Given the description of an element on the screen output the (x, y) to click on. 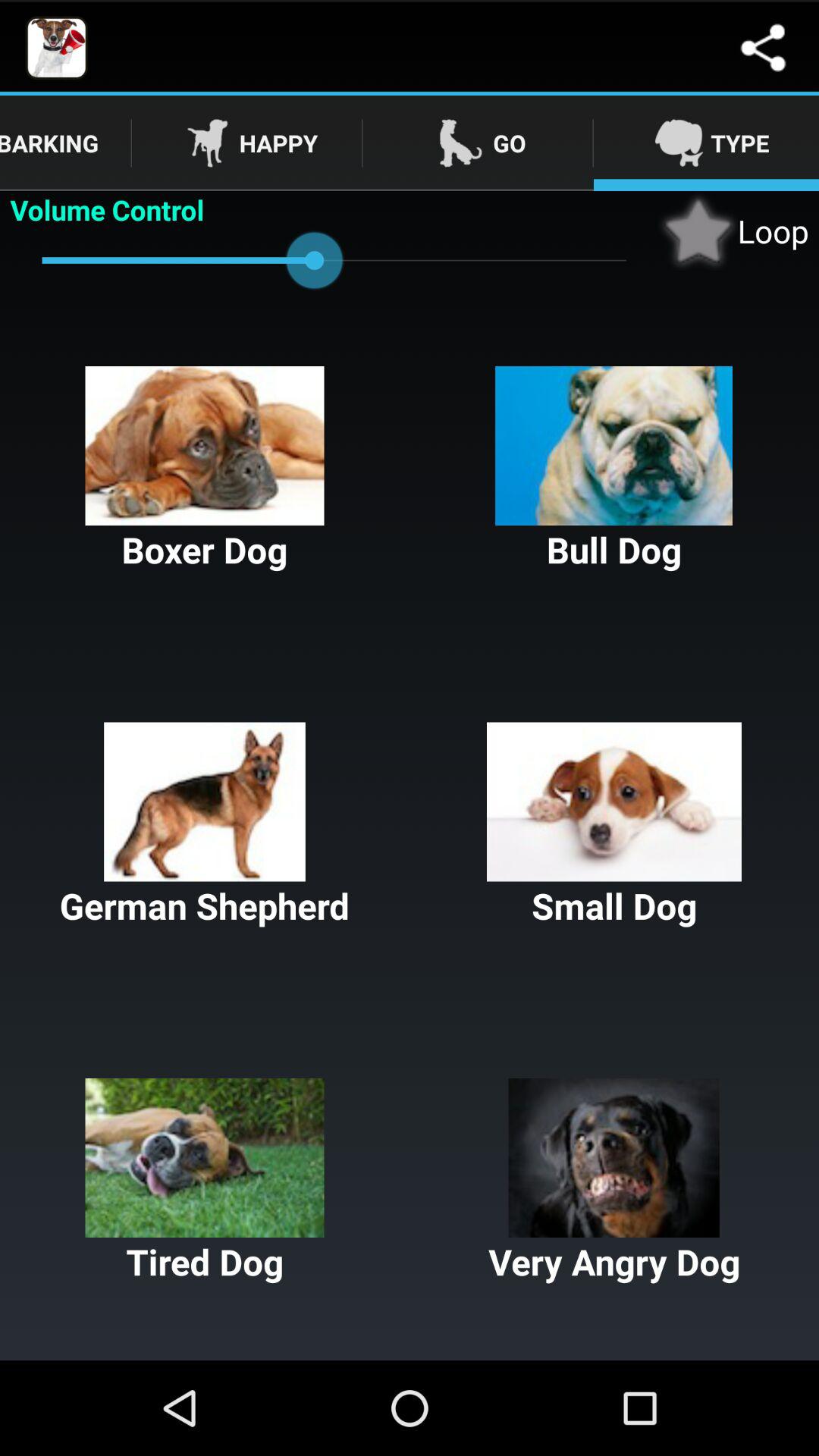
scroll to very angry dog button (614, 1181)
